Given the description of an element on the screen output the (x, y) to click on. 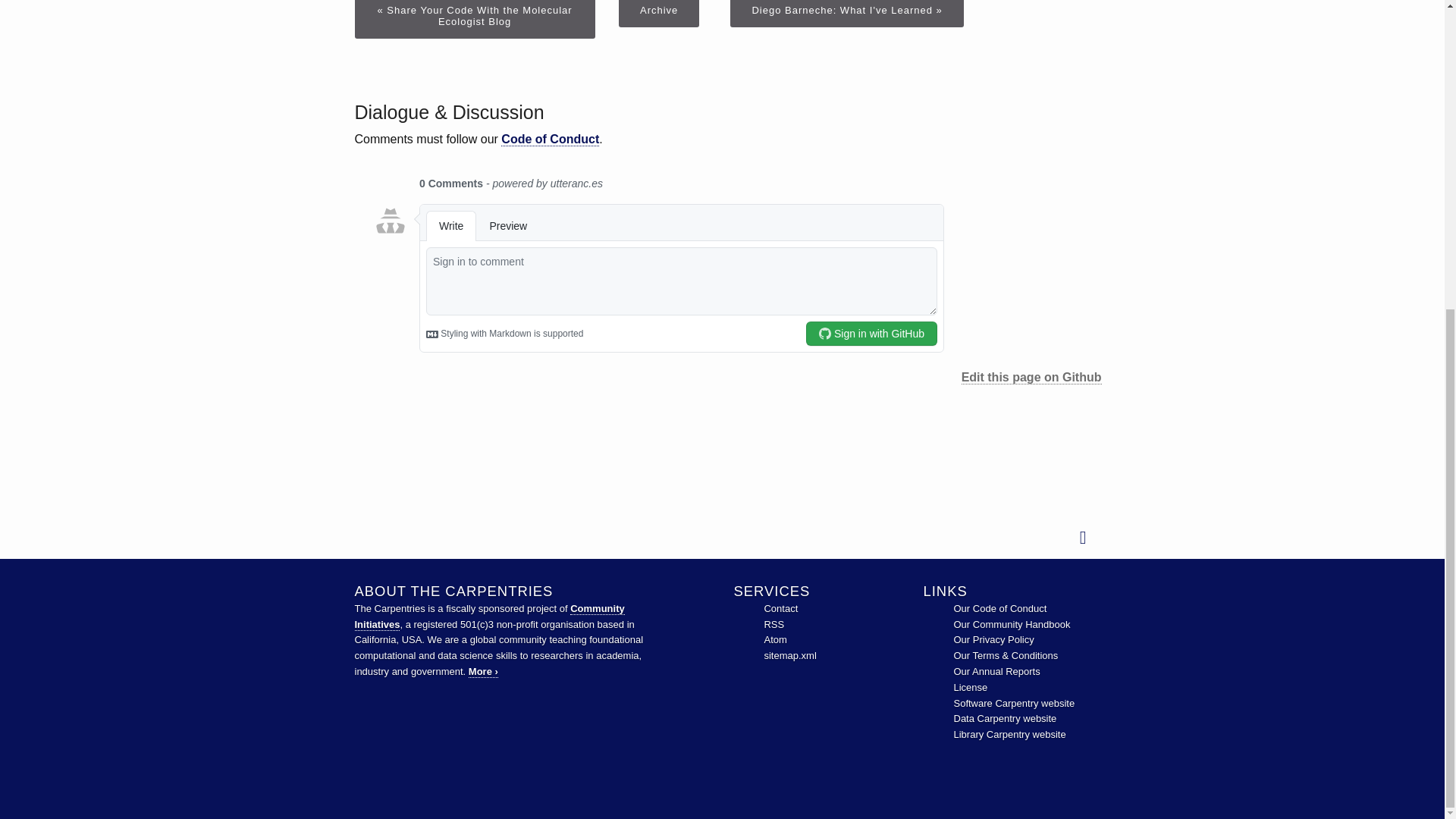
Sitemap for Google Webmaster Tools (788, 655)
Privacy Policy (993, 639)
Software Carpentry (1014, 703)
Terms and Conditions (1005, 655)
Subscribe to RSS Feed (773, 624)
Data Carpentry (1005, 717)
Library Carpentry (1009, 734)
Code of Conduct (999, 608)
Community Handbook (1011, 624)
Blog Archive (658, 13)
